Given the description of an element on the screen output the (x, y) to click on. 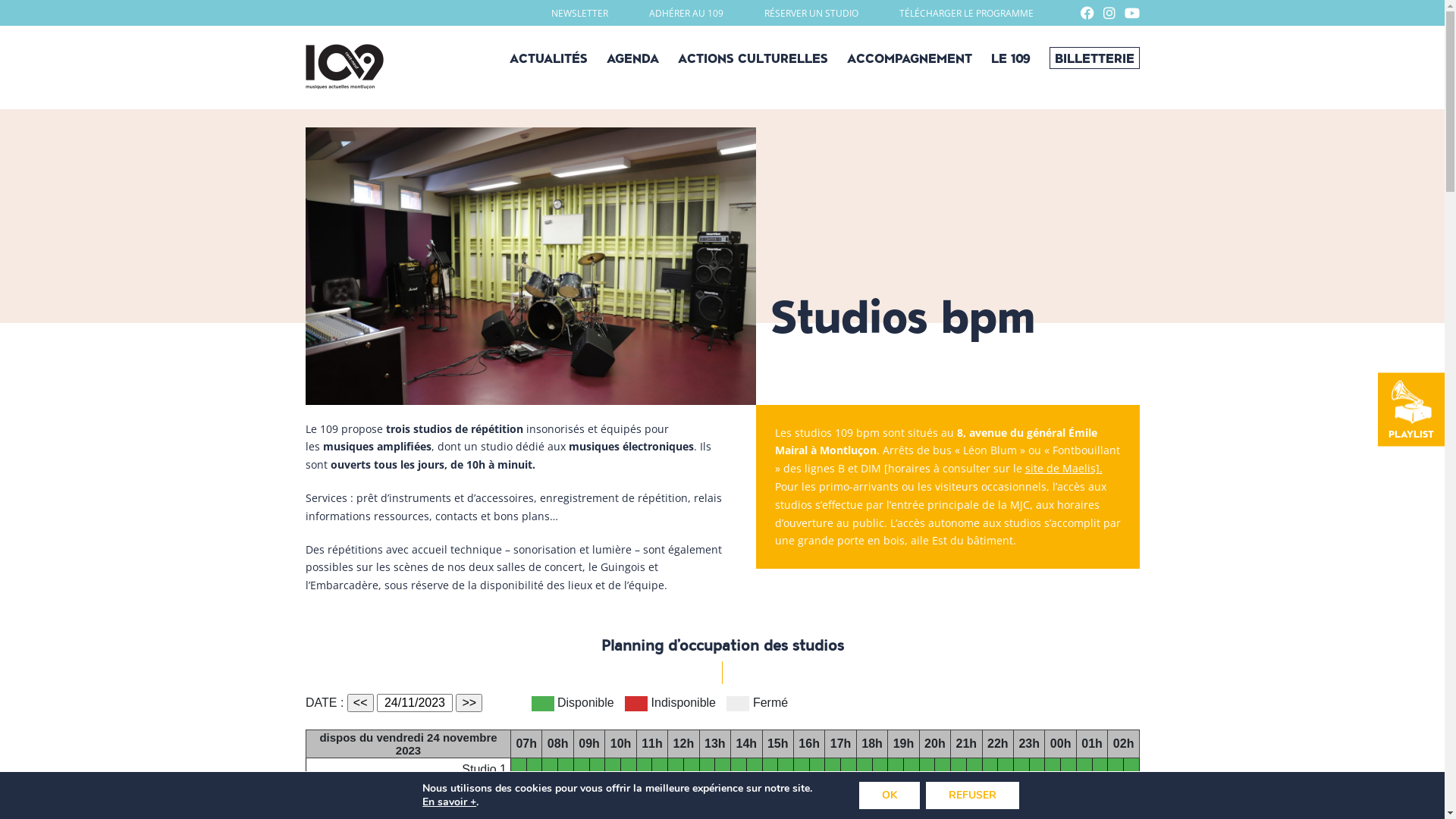
NEWSLETTER Element type: text (578, 12)
En savoir + Element type: text (449, 802)
AGENDA Element type: text (632, 57)
REFUSER Element type: text (972, 795)
LE 109 Element type: text (1009, 57)
site de Maelis]. Element type: text (1063, 468)
OK Element type: text (889, 795)
ACTIONS CULTURELLES Element type: text (752, 57)
BILLETTERIE Element type: text (1094, 58)
ACCOMPAGNEMENT Element type: text (908, 57)
